Given the description of an element on the screen output the (x, y) to click on. 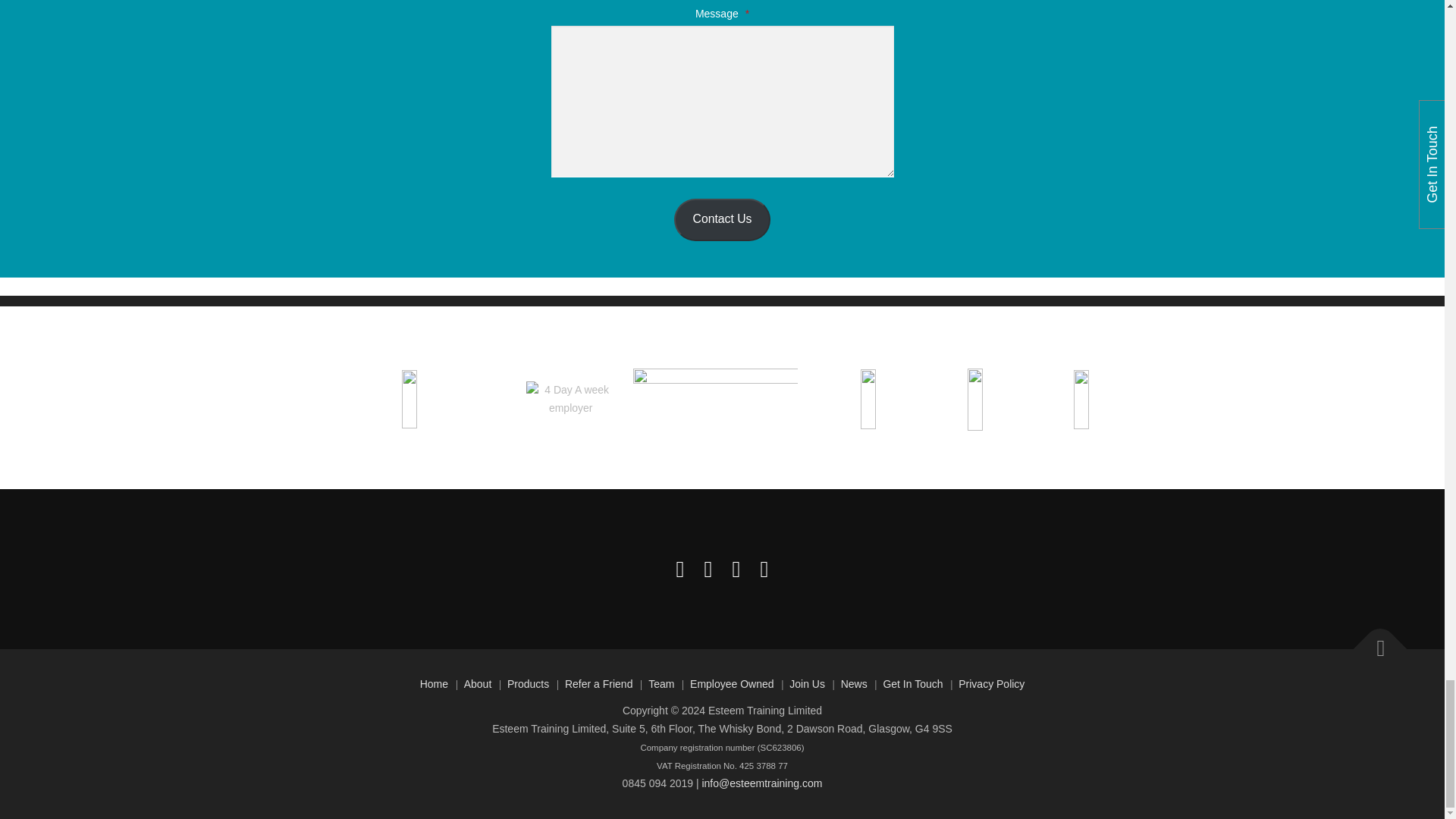
Join Us (807, 684)
Get In Touch (912, 684)
Contact Us (722, 219)
Employee Owned (732, 684)
Home (434, 684)
News (854, 684)
Back To Top (1372, 640)
Team (660, 684)
About (478, 684)
Privacy Policy (991, 684)
Products (527, 684)
Refer a Friend (597, 684)
